Given the description of an element on the screen output the (x, y) to click on. 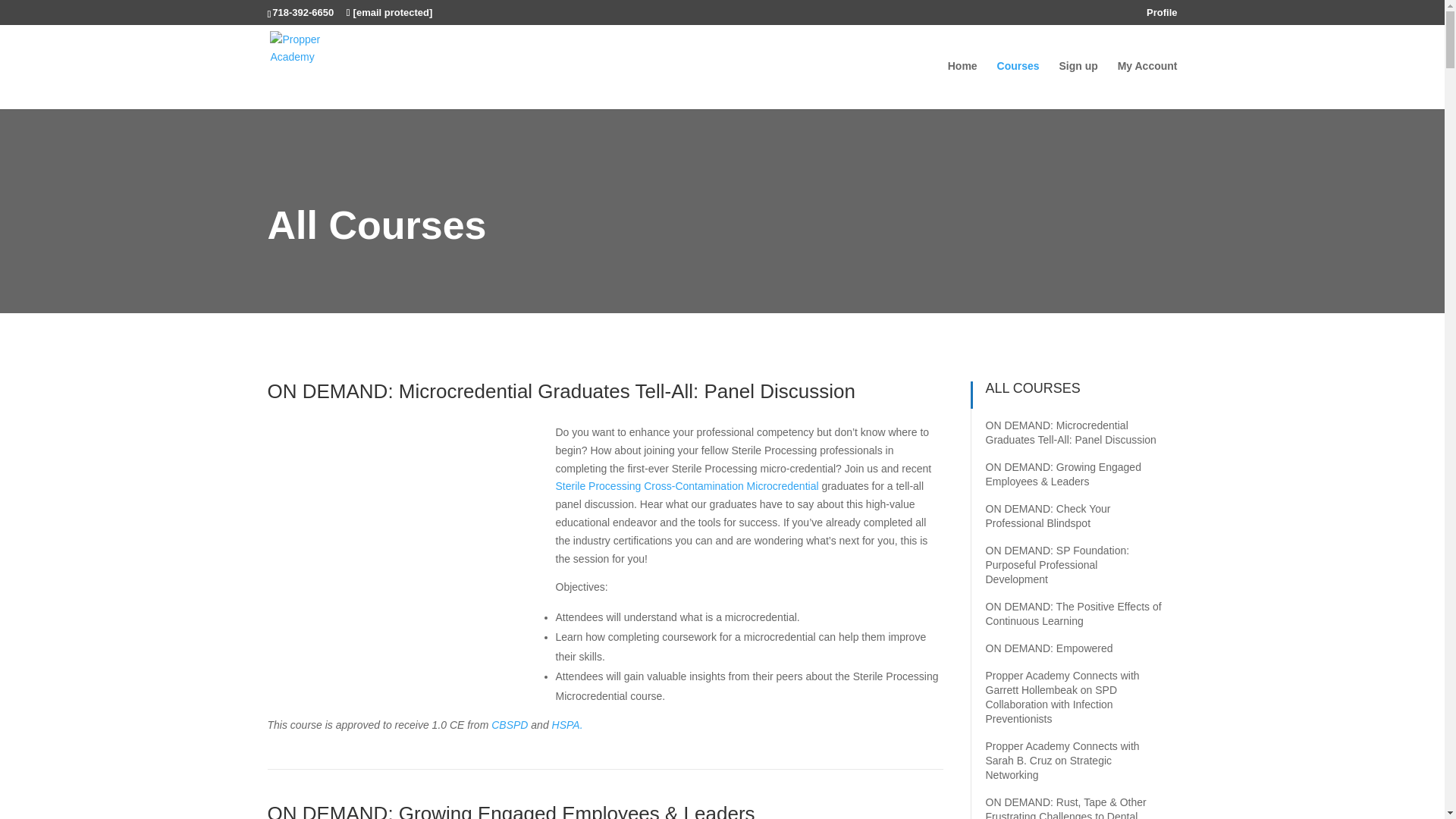
My Account (1147, 84)
HSPA. (567, 725)
Profile (1161, 16)
Home (961, 84)
Courses (1018, 84)
CBSPD (509, 725)
Sign up (1077, 84)
Sterile Processing Cross-Contamination Microcredential (686, 485)
